Given the description of an element on the screen output the (x, y) to click on. 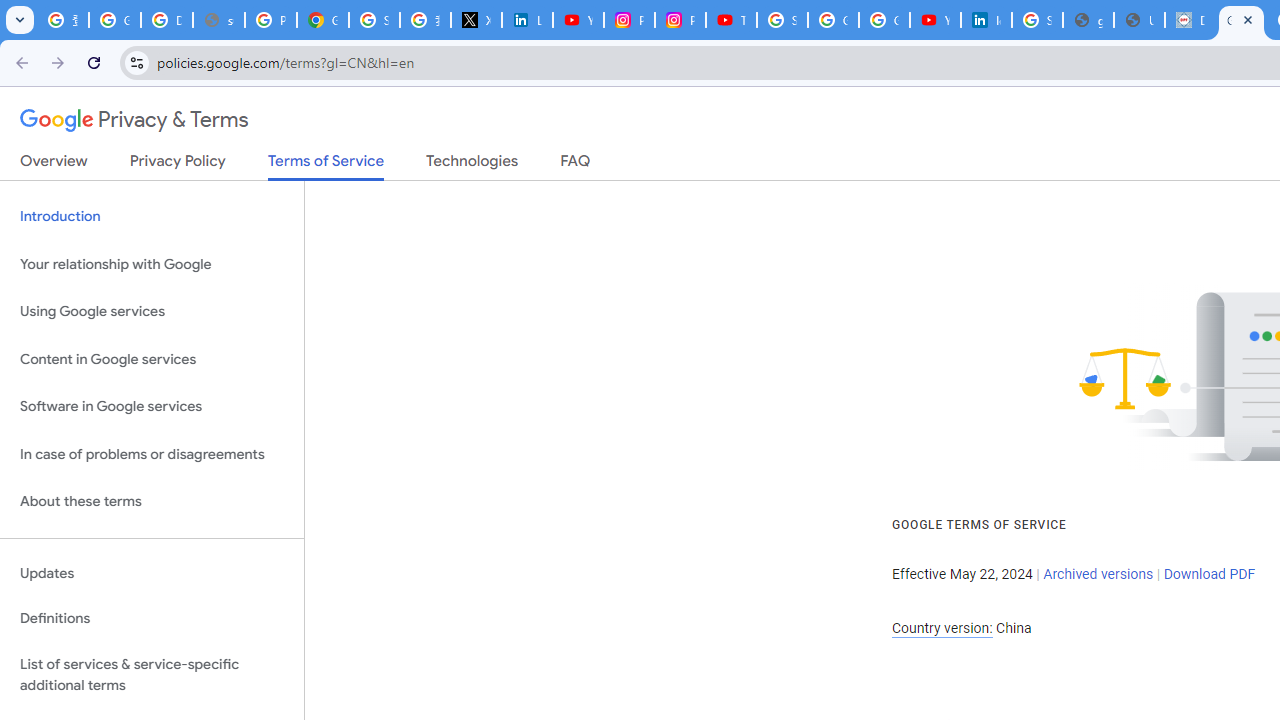
support.google.com - Network error (218, 20)
Data Privacy Framework (1189, 20)
User Details (1138, 20)
System (10, 11)
Sign in - Google Accounts (1037, 20)
Archived versions (1098, 574)
Definitions (152, 619)
Introduction (152, 216)
Content in Google services (152, 358)
Privacy Policy (177, 165)
Forward (57, 62)
